Given the description of an element on the screen output the (x, y) to click on. 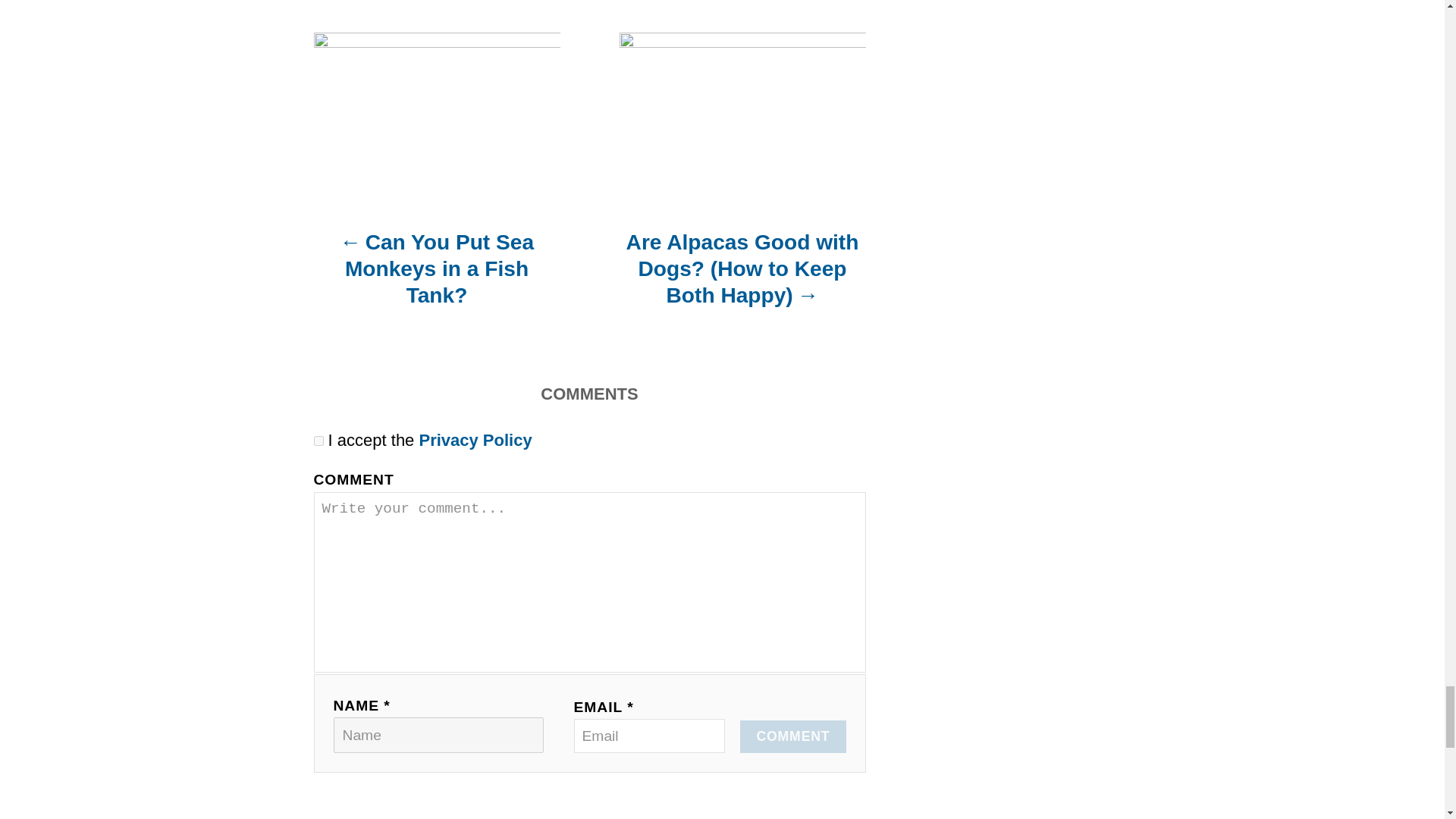
1 (318, 440)
Privacy Policy (475, 439)
Can You Put Sea Monkeys in a Fish Tank? (437, 276)
COMMENT (792, 736)
